Given the description of an element on the screen output the (x, y) to click on. 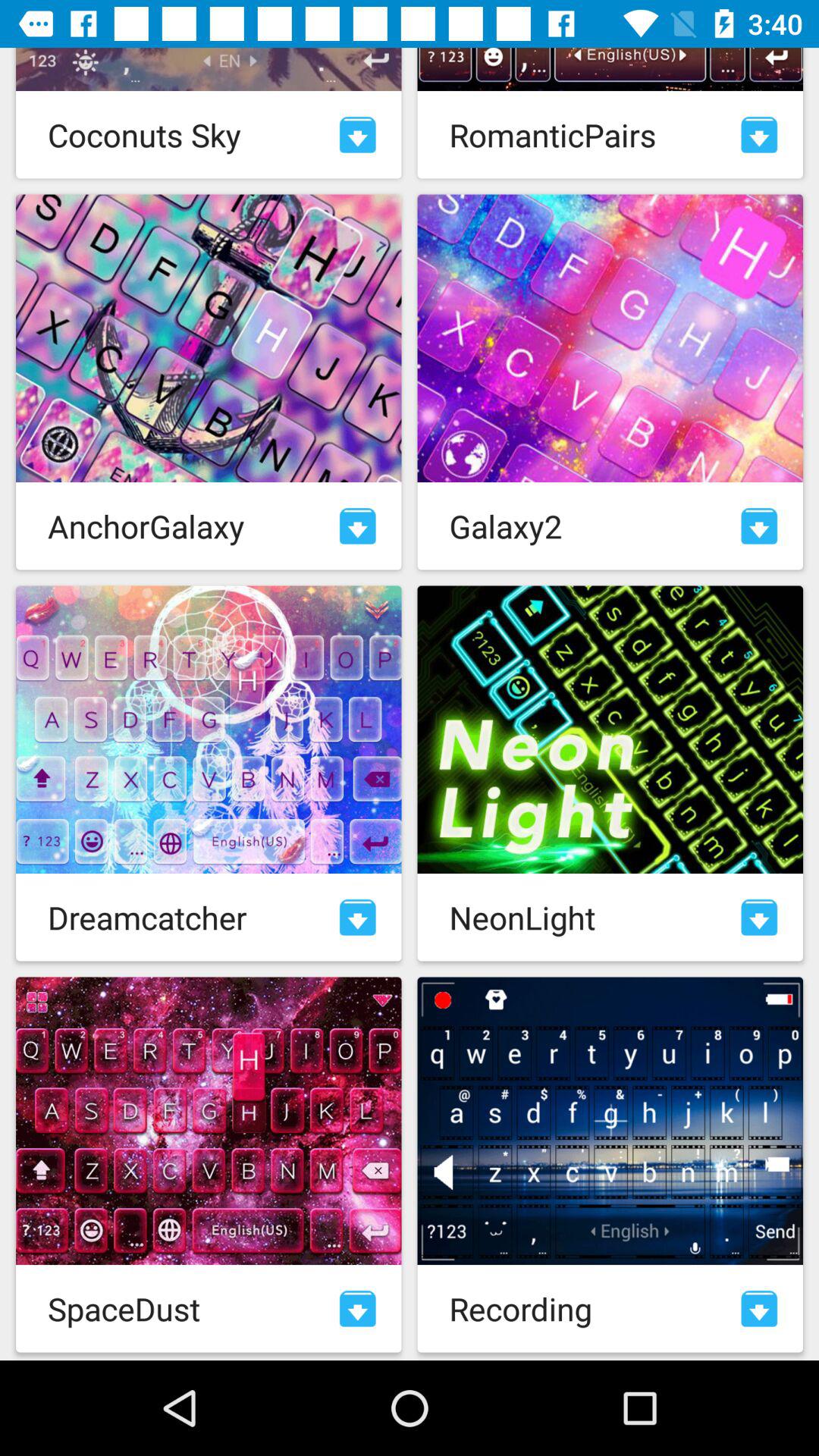
start download (759, 525)
